Given the description of an element on the screen output the (x, y) to click on. 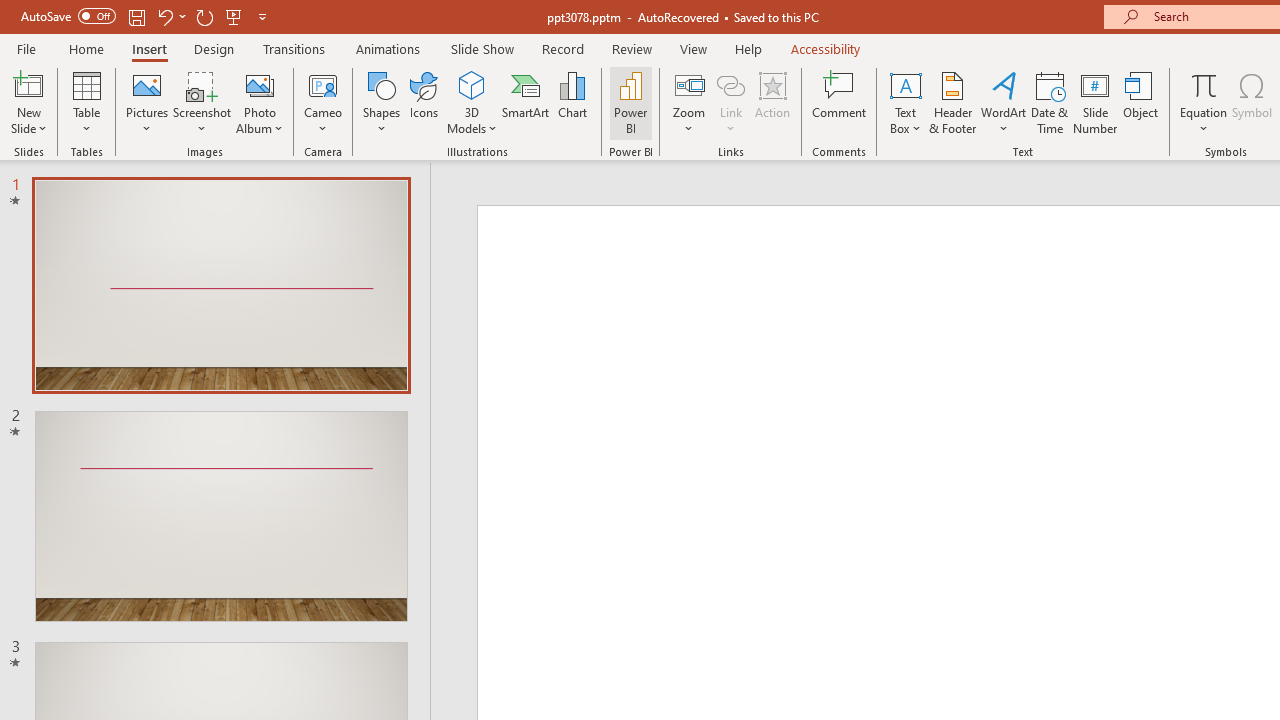
SmartArt... (525, 102)
Slide Number (1095, 102)
Equation (1203, 102)
Link (731, 102)
Link (731, 84)
Chart... (572, 102)
